Given the description of an element on the screen output the (x, y) to click on. 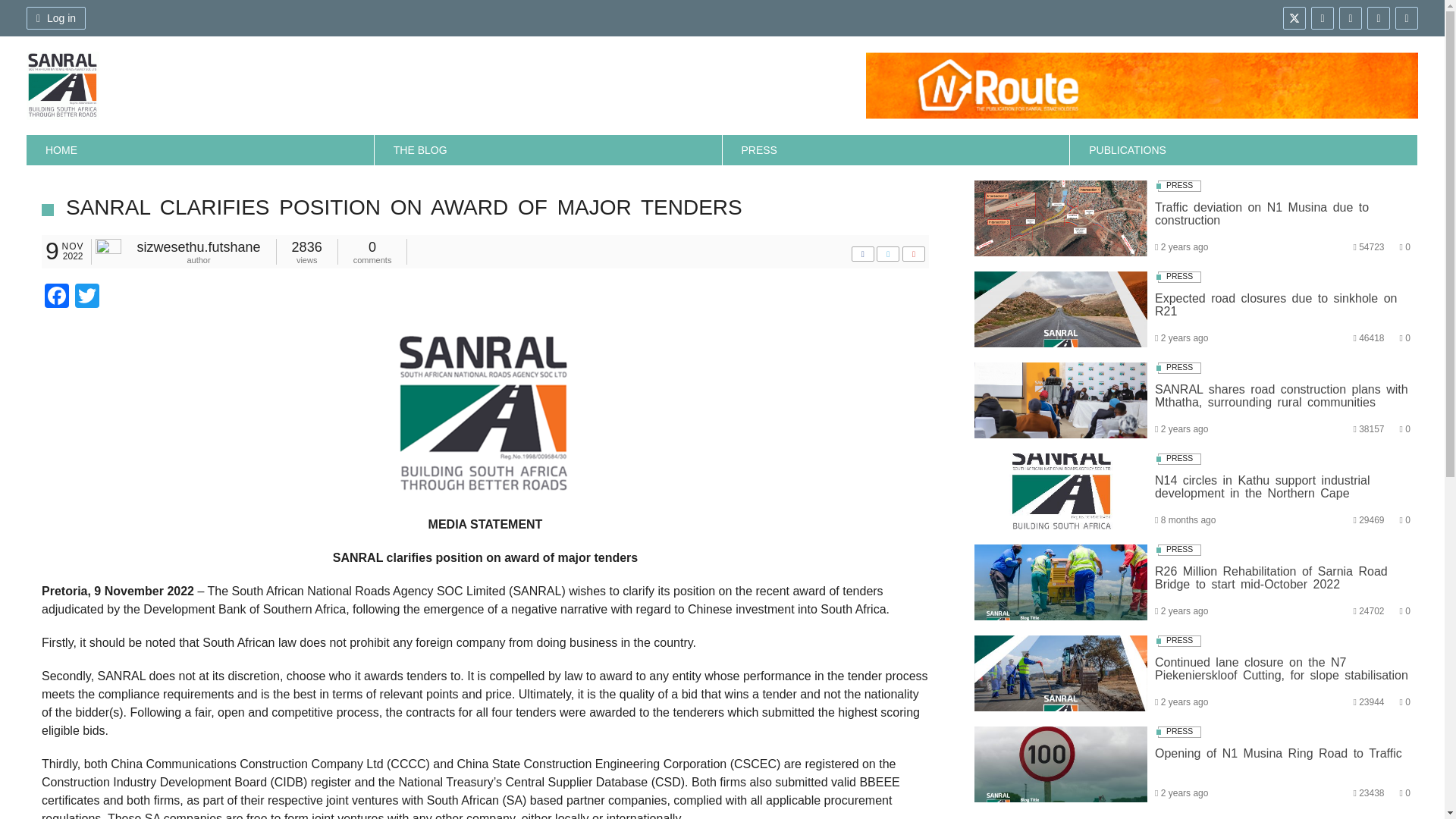
PUBLICATIONS (1244, 150)
Log in (55, 17)
Twitter (86, 297)
PRESS (896, 150)
HOME (200, 150)
Facebook (56, 297)
THE BLOG (548, 150)
